Given the description of an element on the screen output the (x, y) to click on. 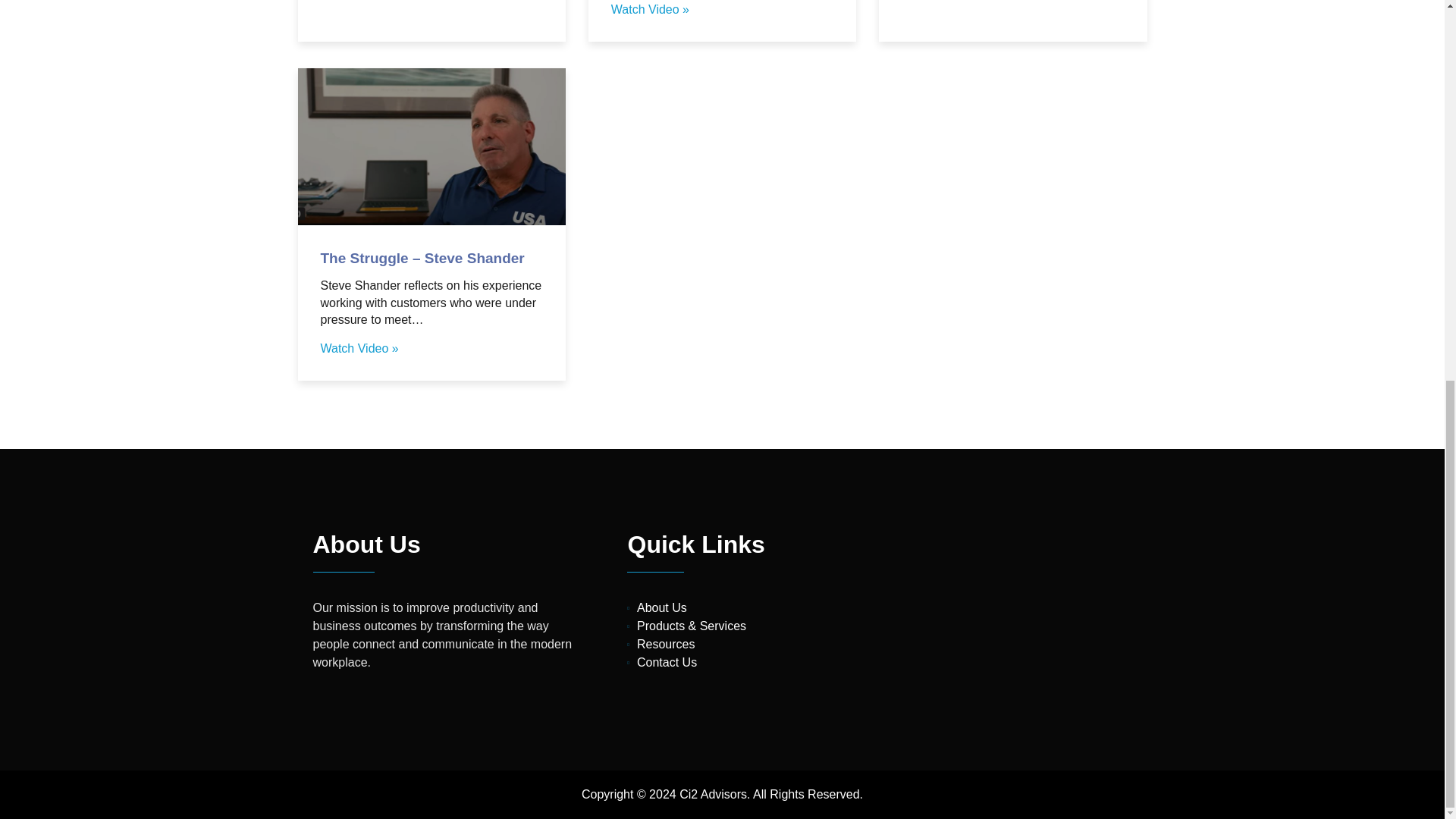
Contact Us (751, 662)
Resources (751, 644)
About Us (751, 607)
